Given the description of an element on the screen output the (x, y) to click on. 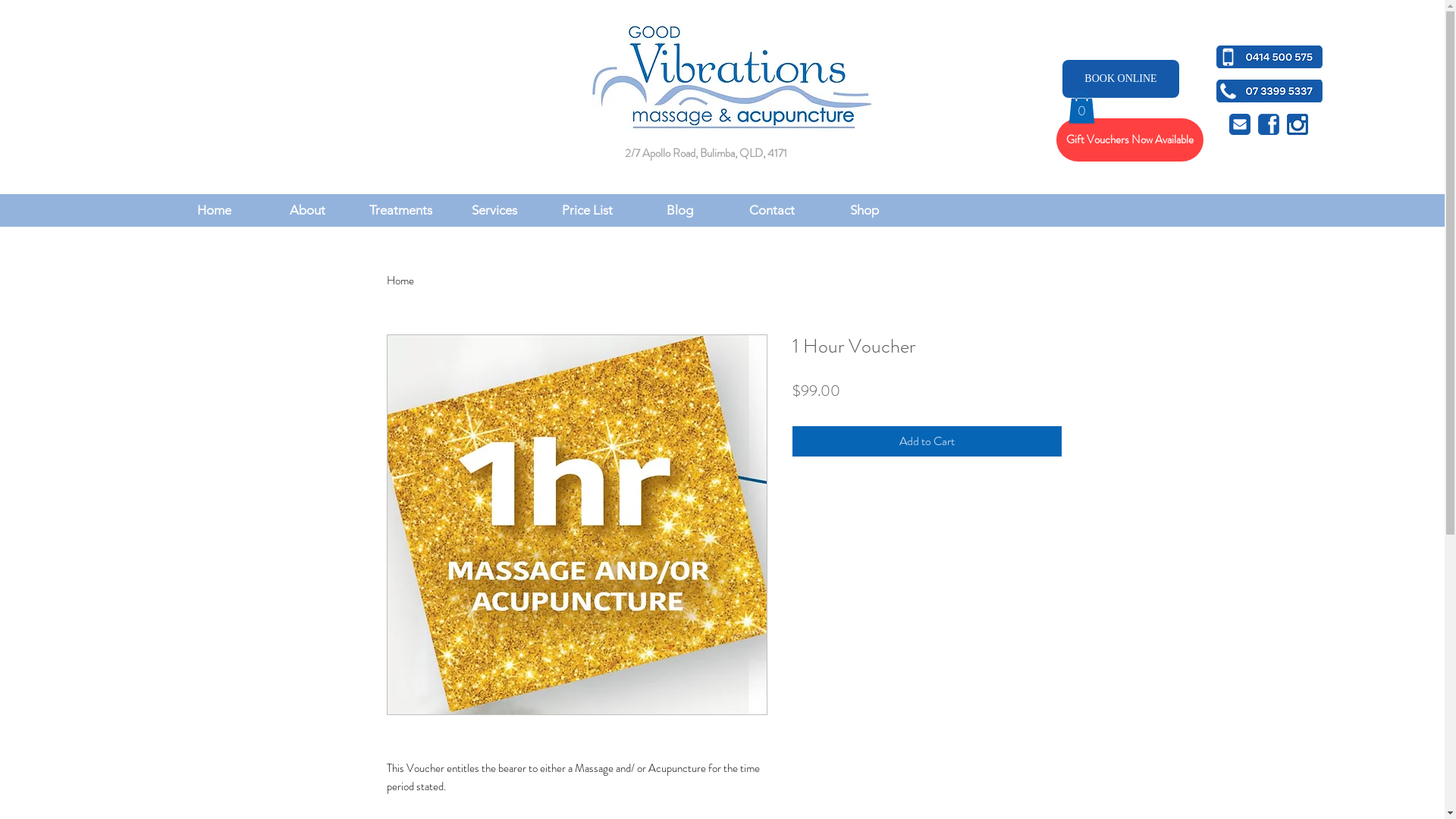
About Element type: text (307, 209)
Add to Cart Element type: text (926, 441)
Home Element type: text (400, 280)
Home Element type: text (213, 209)
Gift Vouchers Now Available Element type: text (1129, 139)
0 Element type: text (1080, 107)
Shop Element type: text (864, 209)
Price List Element type: text (586, 209)
2/7 Apollo Road, Bulimba, QLD, 4171 Element type: text (705, 152)
Contact Element type: text (771, 209)
Blog Element type: text (679, 209)
BOOK ONLINE Element type: text (1120, 78)
